Given the description of an element on the screen output the (x, y) to click on. 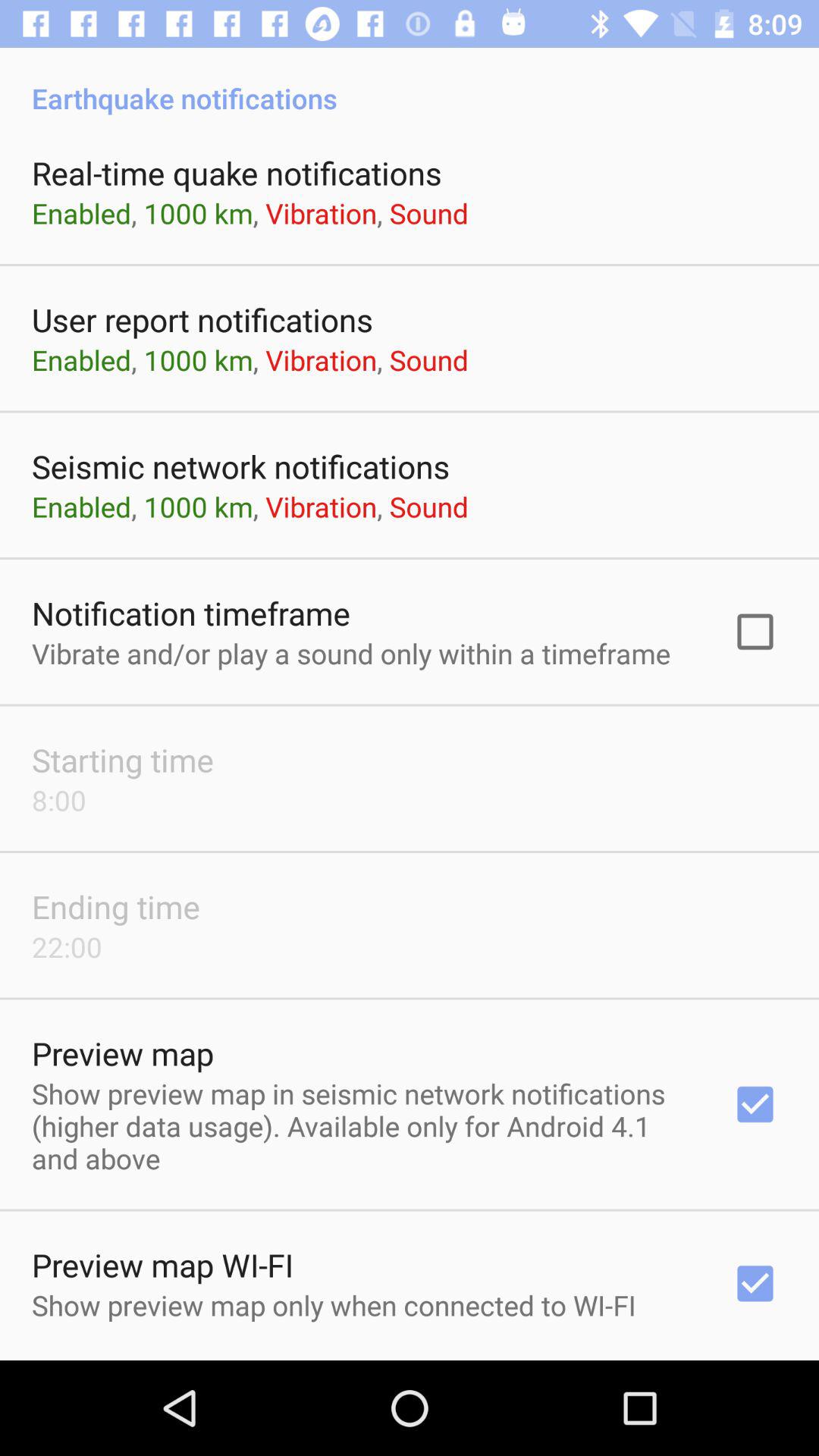
flip to earthquake notifications icon (409, 82)
